Given the description of an element on the screen output the (x, y) to click on. 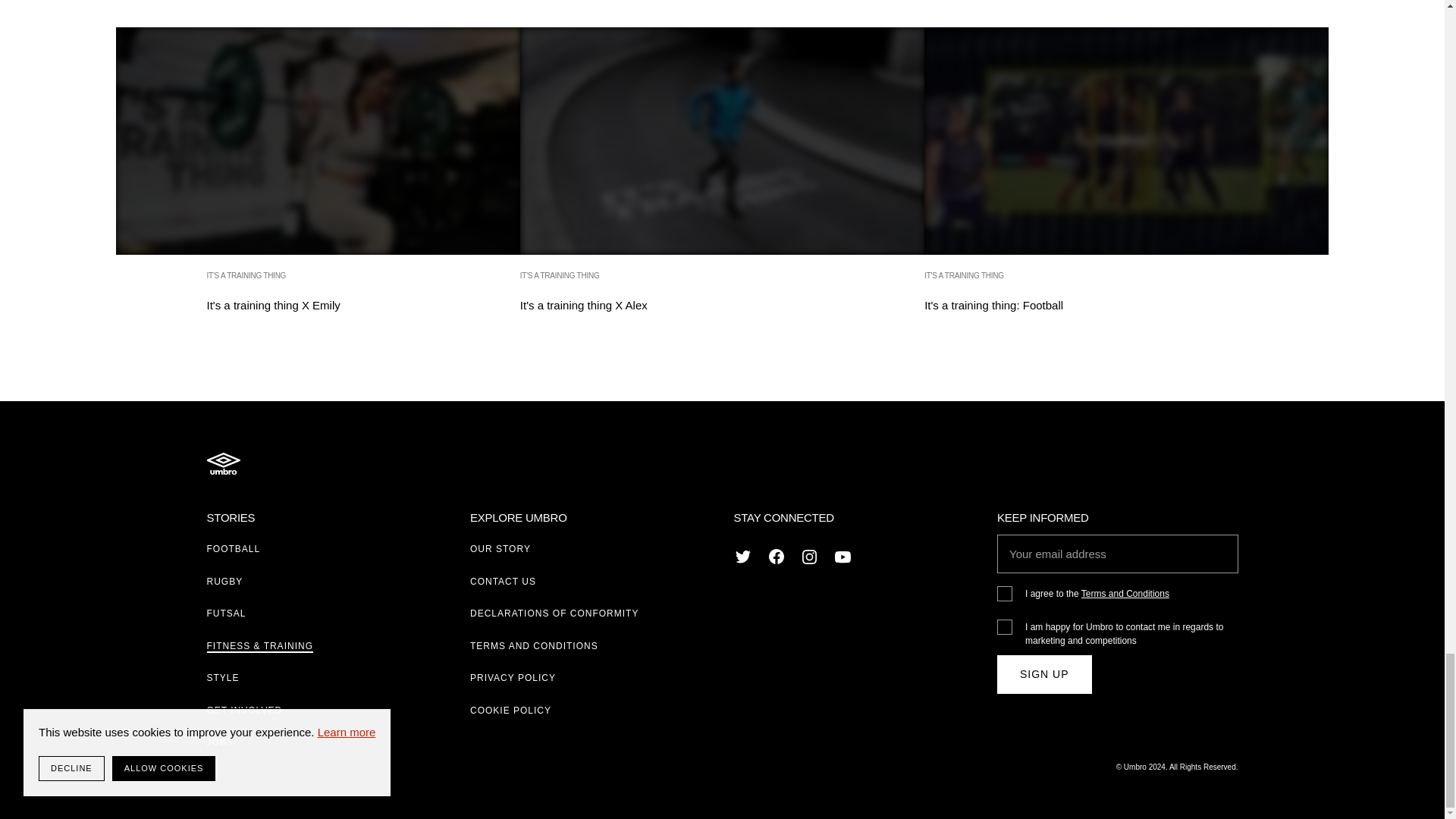
Twitter (743, 556)
SIGN UP (1044, 674)
Umbro (223, 462)
Facebook (776, 556)
Terms and Conditions (1125, 593)
Instagram (721, 182)
true (810, 556)
